Given the description of an element on the screen output the (x, y) to click on. 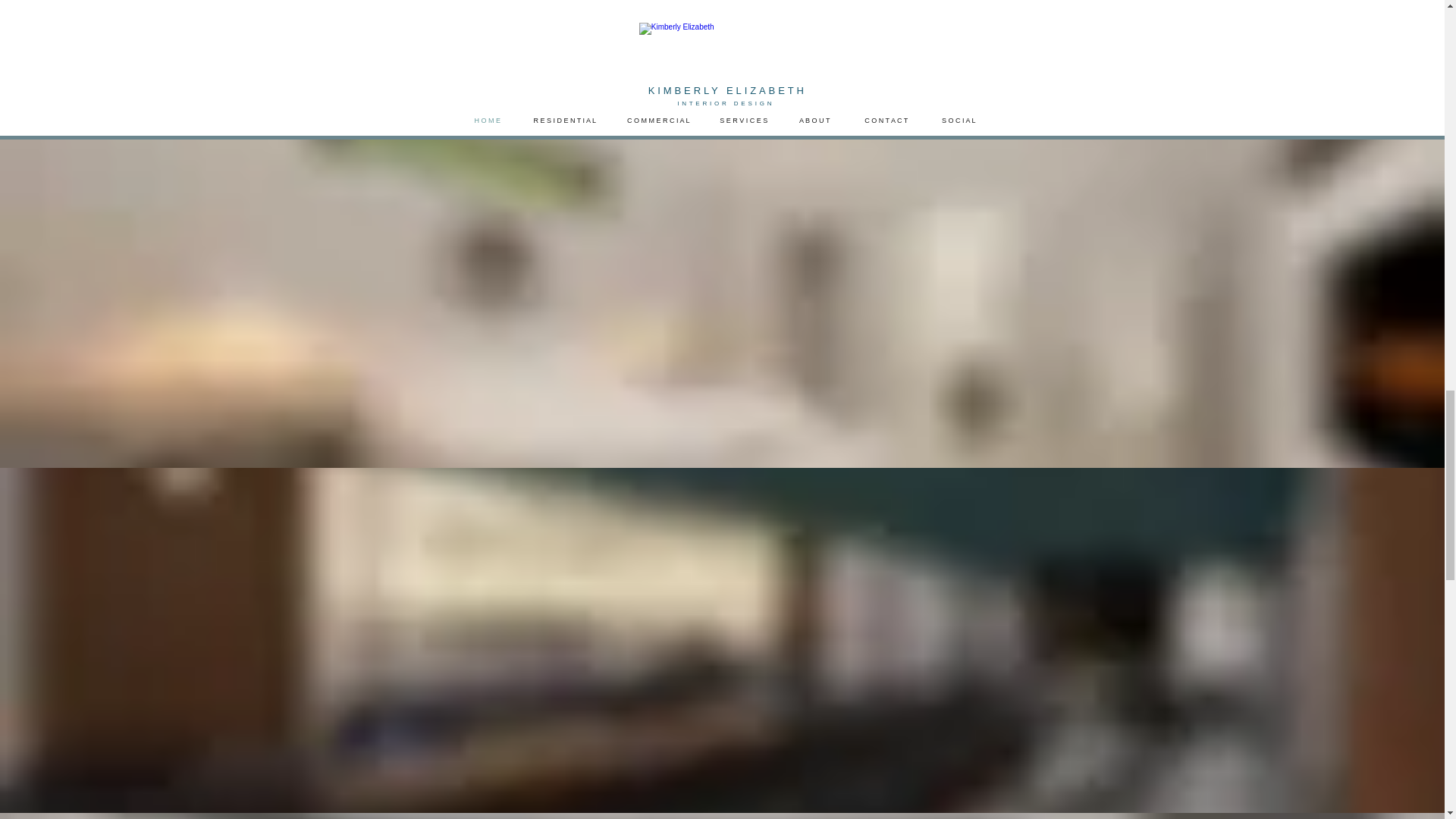
SEND (717, 4)
